Given the description of an element on the screen output the (x, y) to click on. 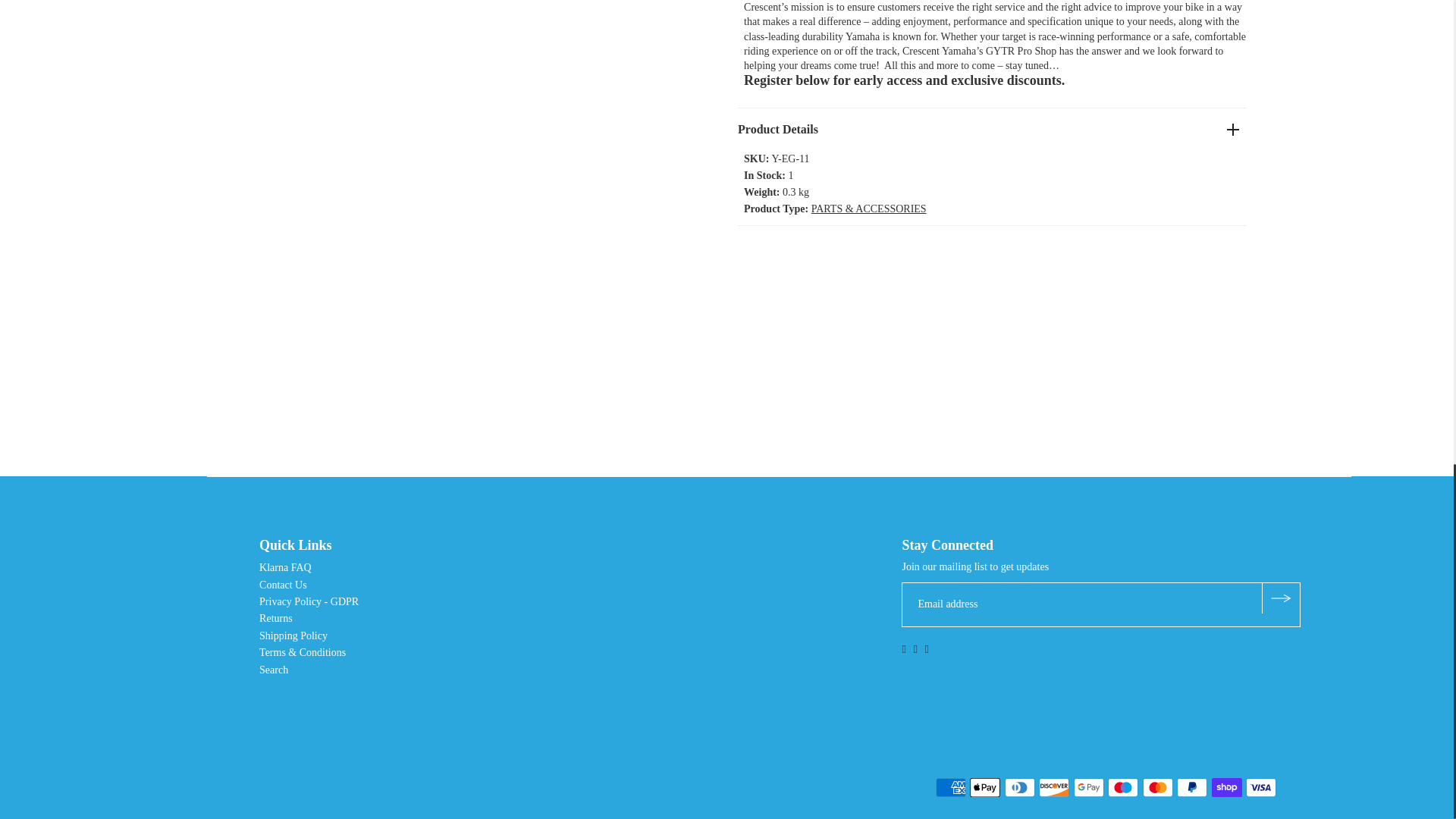
Visa (1261, 787)
Apple Pay (984, 787)
PayPal (1191, 787)
Mastercard (1157, 787)
Diners Club (1019, 787)
Google Pay (1088, 787)
Discover (1053, 787)
American Express (951, 787)
Shop Pay (1226, 787)
Maestro (1123, 787)
